Given the description of an element on the screen output the (x, y) to click on. 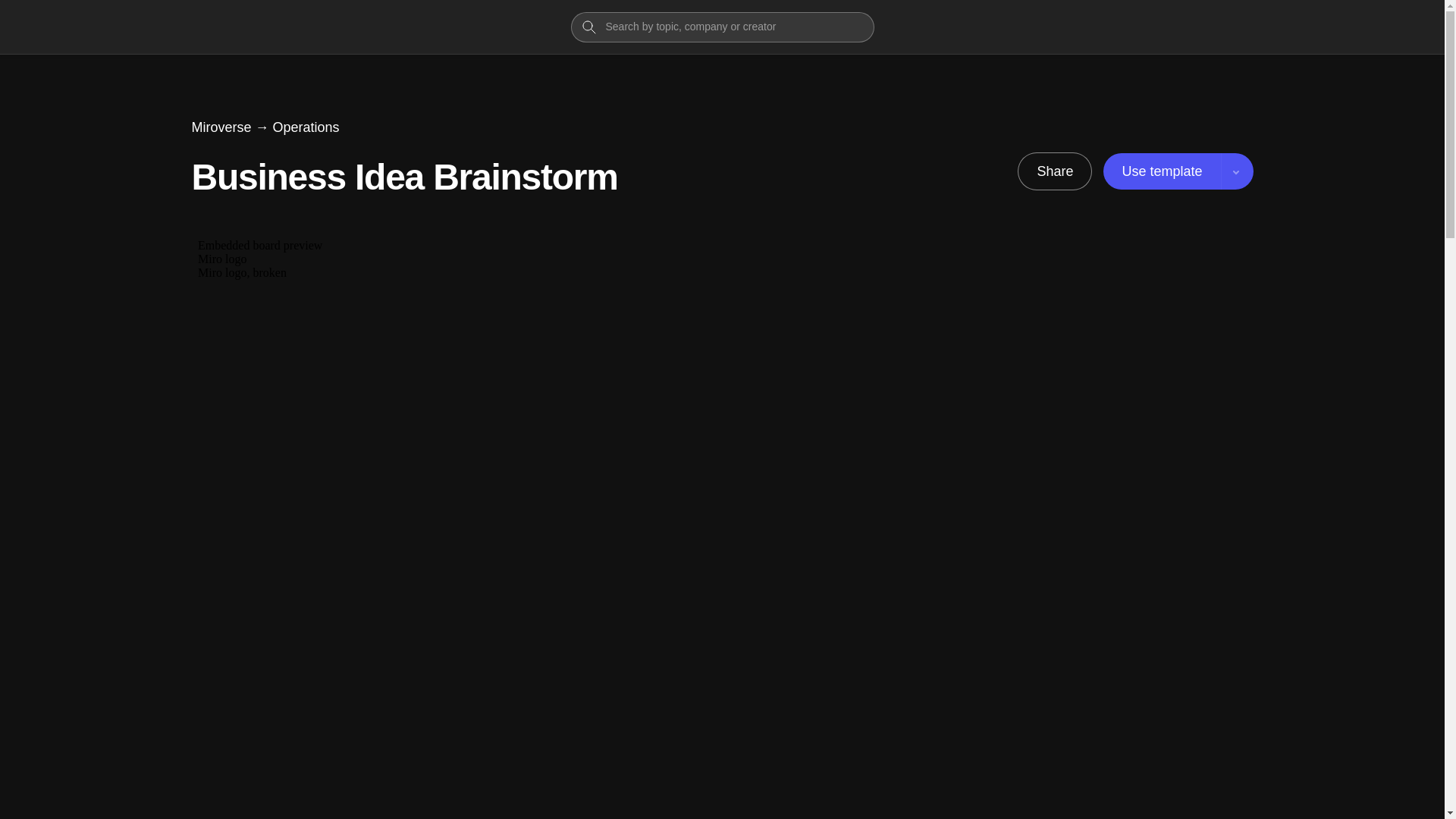
Share (1053, 171)
Use template (1177, 171)
Miroverse (220, 127)
Operations (306, 127)
